Given the description of an element on the screen output the (x, y) to click on. 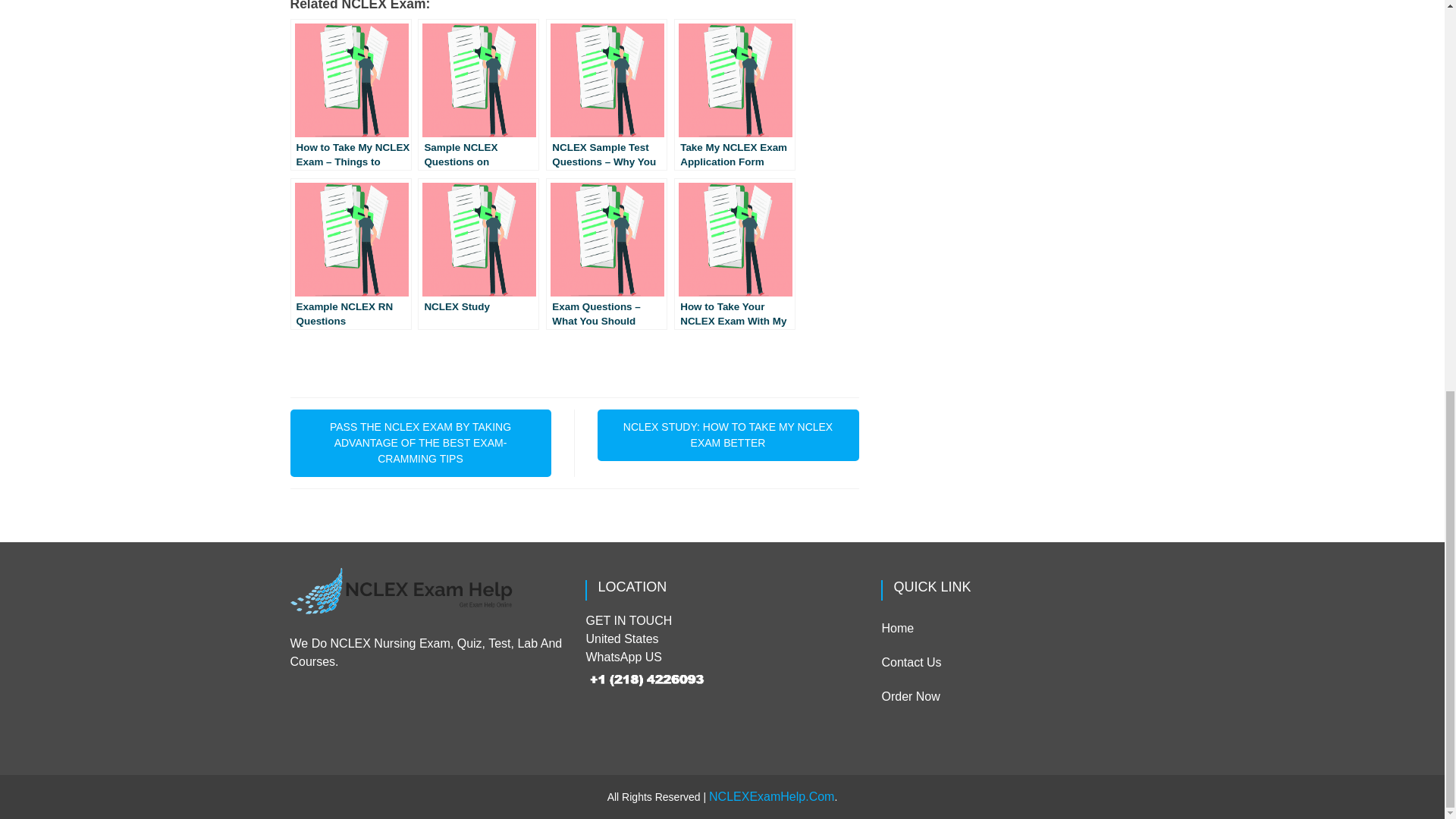
Contact Us (910, 662)
NCLEXExamHelp.Com (771, 796)
Order Now (909, 696)
Home (897, 627)
NCLEX STUDY: HOW TO TAKE MY NCLEX EXAM BETTER (727, 435)
